Given the description of an element on the screen output the (x, y) to click on. 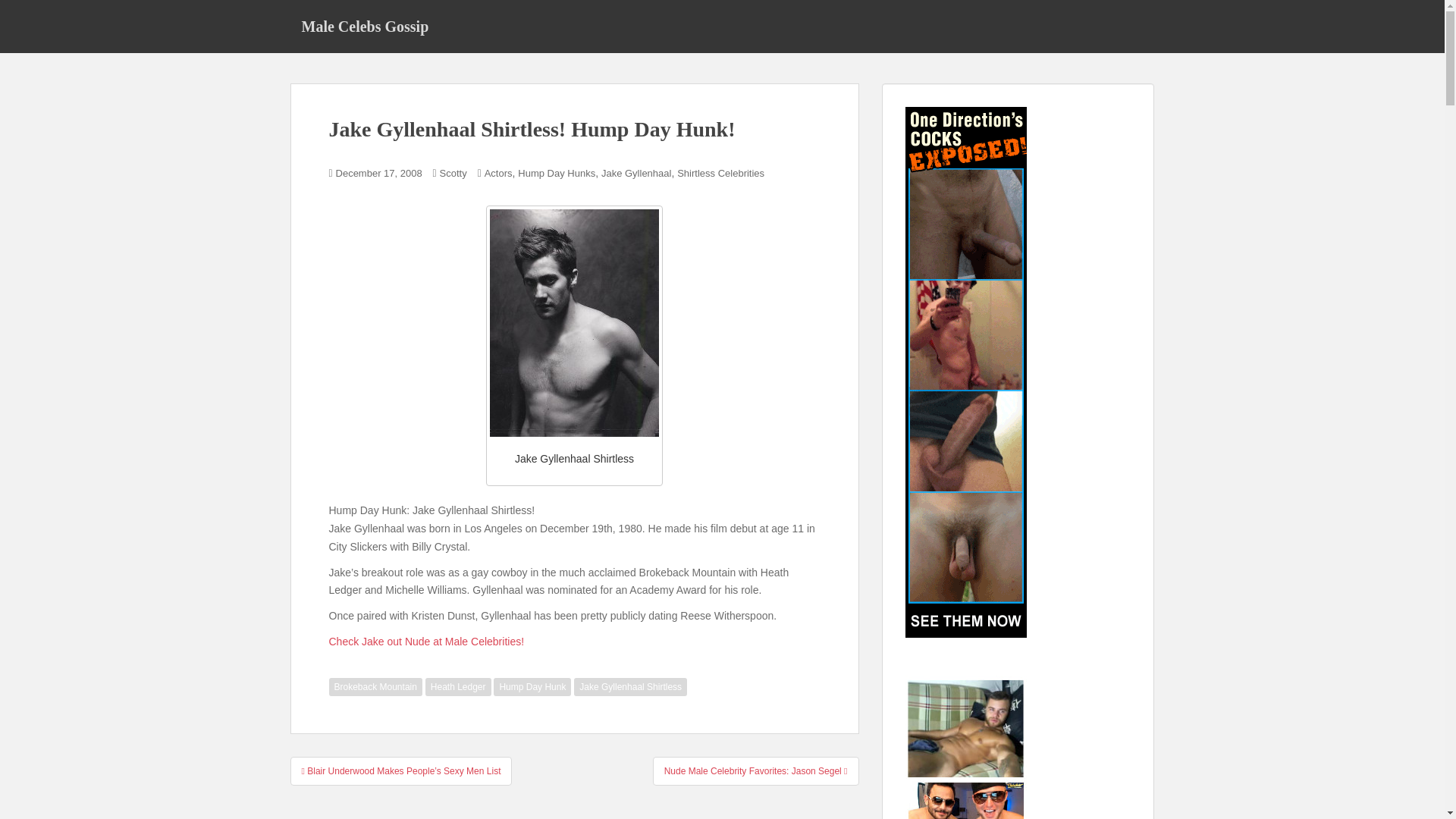
Jake Gyllenhaal Shirtless (630, 687)
Male Celebs Gossip (364, 26)
Shirtless Celebrities (720, 173)
Brokeback Mountain (375, 687)
Hump Day Hunks (556, 173)
Jake Gyllenhaal (636, 173)
Heath Ledger (458, 687)
Check Jake out Nude at Male Celebrities! (426, 641)
Nude Male Celebrity Favorites: Jason Segel (755, 770)
December 17, 2008 (379, 173)
Actors (498, 173)
Hump Day Hunk (531, 687)
Scotty (453, 173)
Male Celebs Gossip (364, 26)
